Given the description of an element on the screen output the (x, y) to click on. 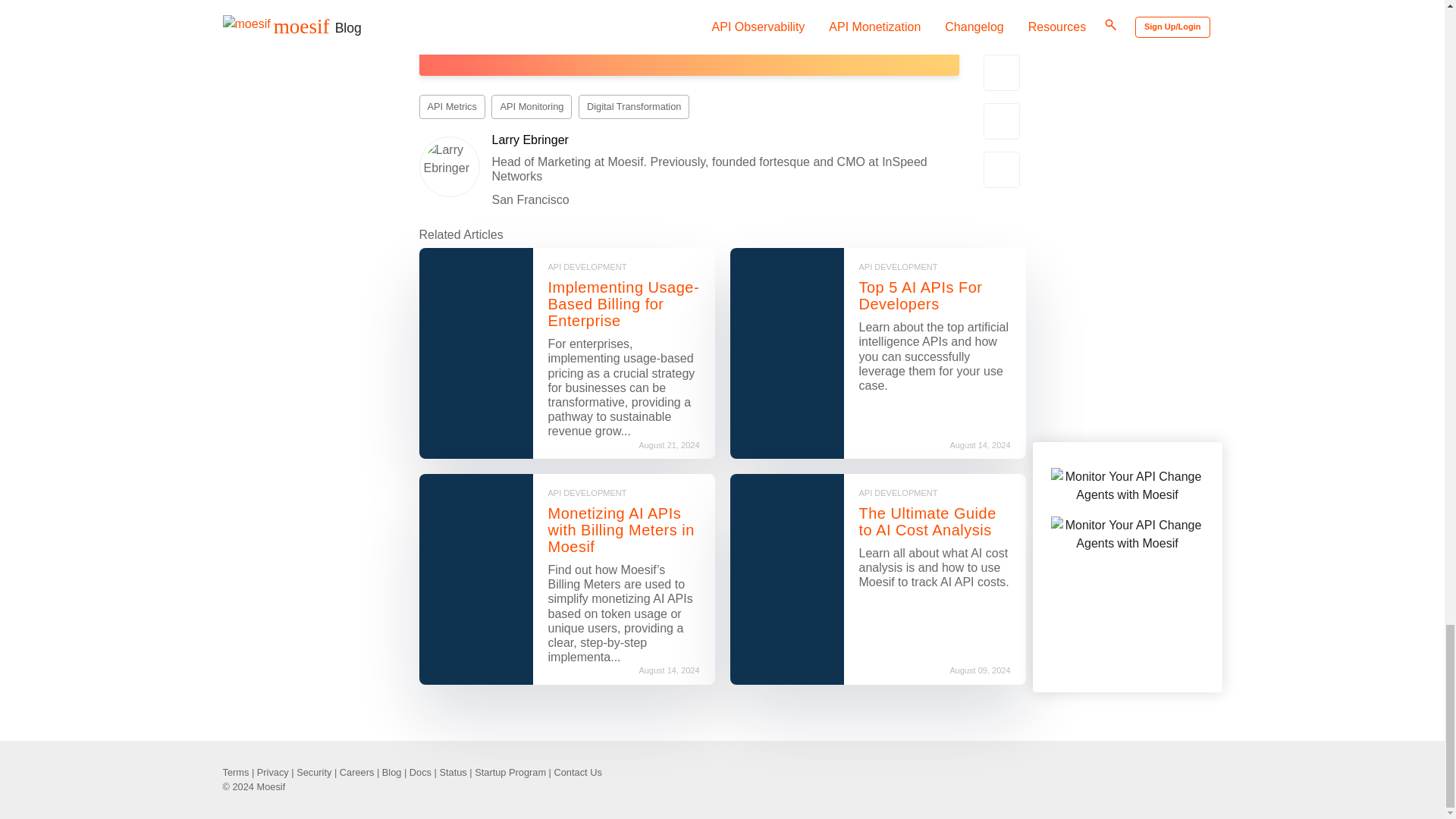
API Metrics (451, 106)
Digital Transformation (633, 106)
API Monitoring (532, 106)
Learn More (481, 36)
